Given the description of an element on the screen output the (x, y) to click on. 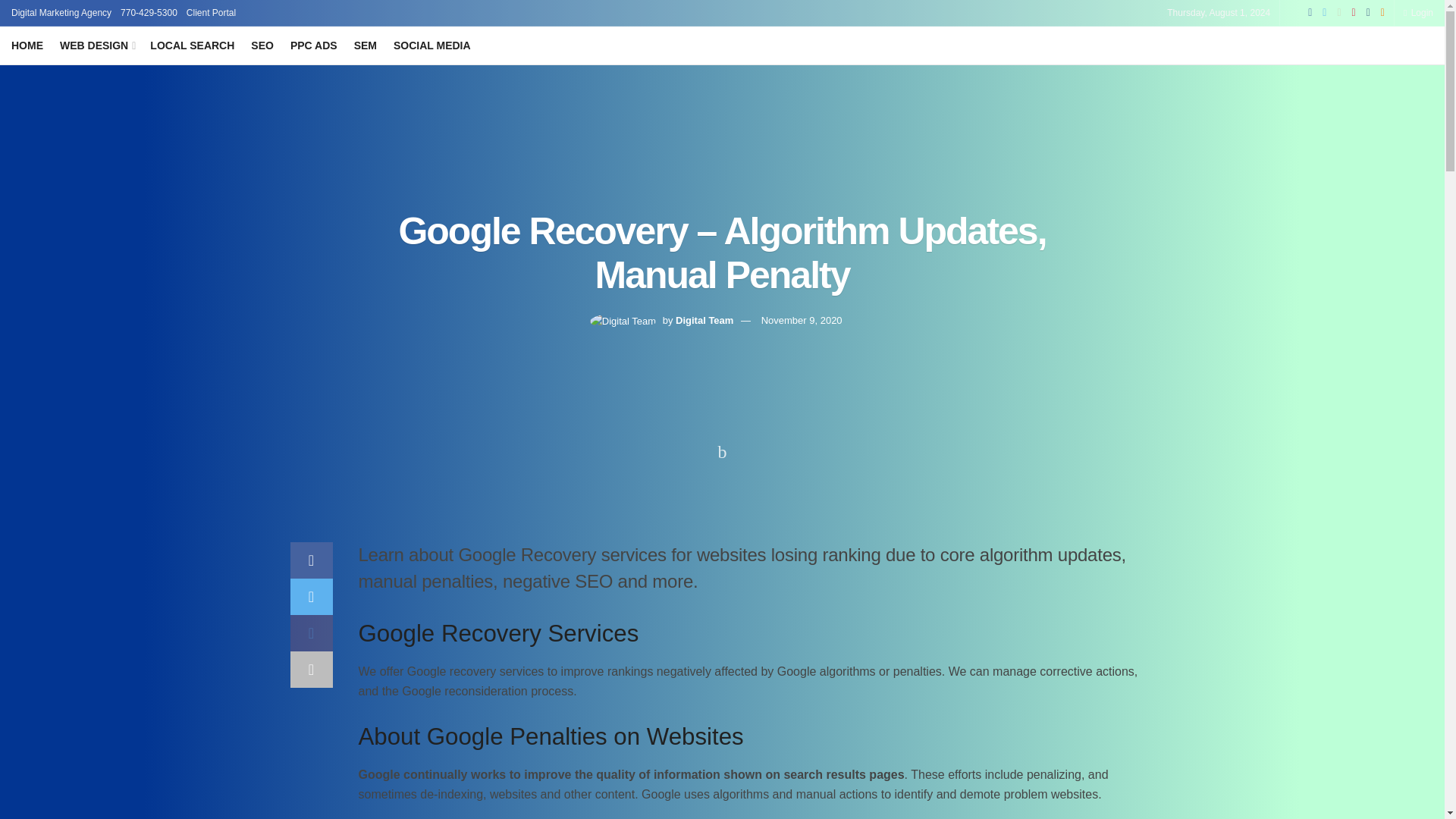
Blog Home (27, 45)
SEO (261, 45)
PPC ADS (313, 45)
SOCIAL MEDIA (431, 45)
Digital Marketing Agency Services (61, 12)
WEB DESIGN (96, 45)
770-429-5300 (148, 12)
SEM (365, 45)
Call 770-429-5300 (148, 12)
Client Portal (210, 12)
HOME (27, 45)
Login (1417, 12)
LOCAL SEARCH (191, 45)
Digital Marketing Agency (61, 12)
